Given the description of an element on the screen output the (x, y) to click on. 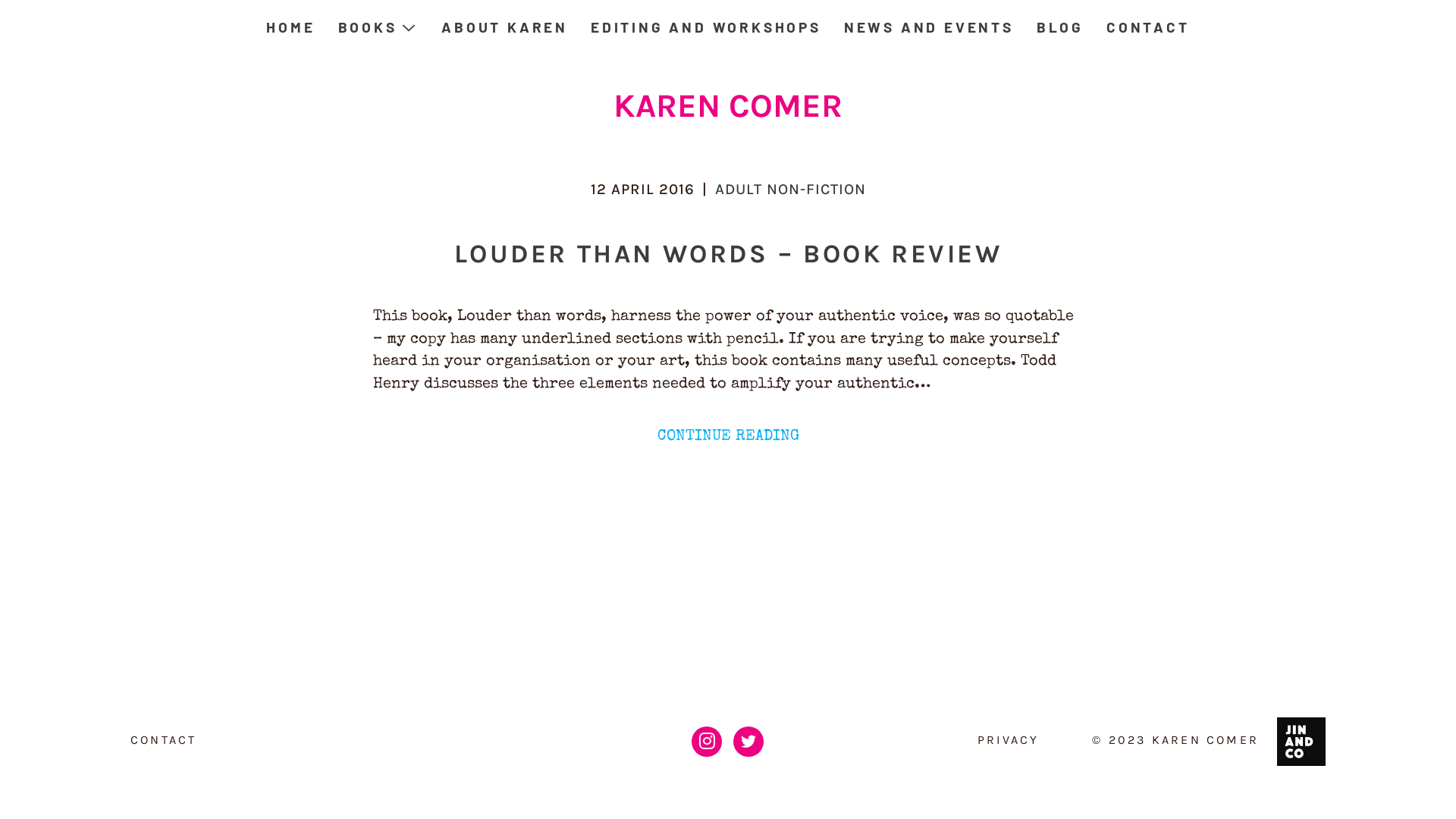
BLOG Element type: text (1059, 26)
EDITING AND WORKSHOPS Element type: text (705, 26)
HOME Element type: text (290, 26)
CONTINUE READING Element type: text (727, 437)
CONTACT Element type: text (1147, 26)
jinandco Element type: hover (1301, 740)
Twitter Element type: hover (748, 741)
NEWS AND EVENTS Element type: text (928, 26)
CONTACT Element type: text (163, 739)
Instagram Element type: hover (706, 741)
PRIVACY Element type: text (1007, 739)
ABOUT KAREN Element type: text (504, 26)
KAREN COMER Element type: text (727, 113)
ADULT NON-FICTION Element type: text (789, 188)
BOOKS Element type: text (378, 26)
KAREN COMER Element type: text (1204, 739)
